Given the description of an element on the screen output the (x, y) to click on. 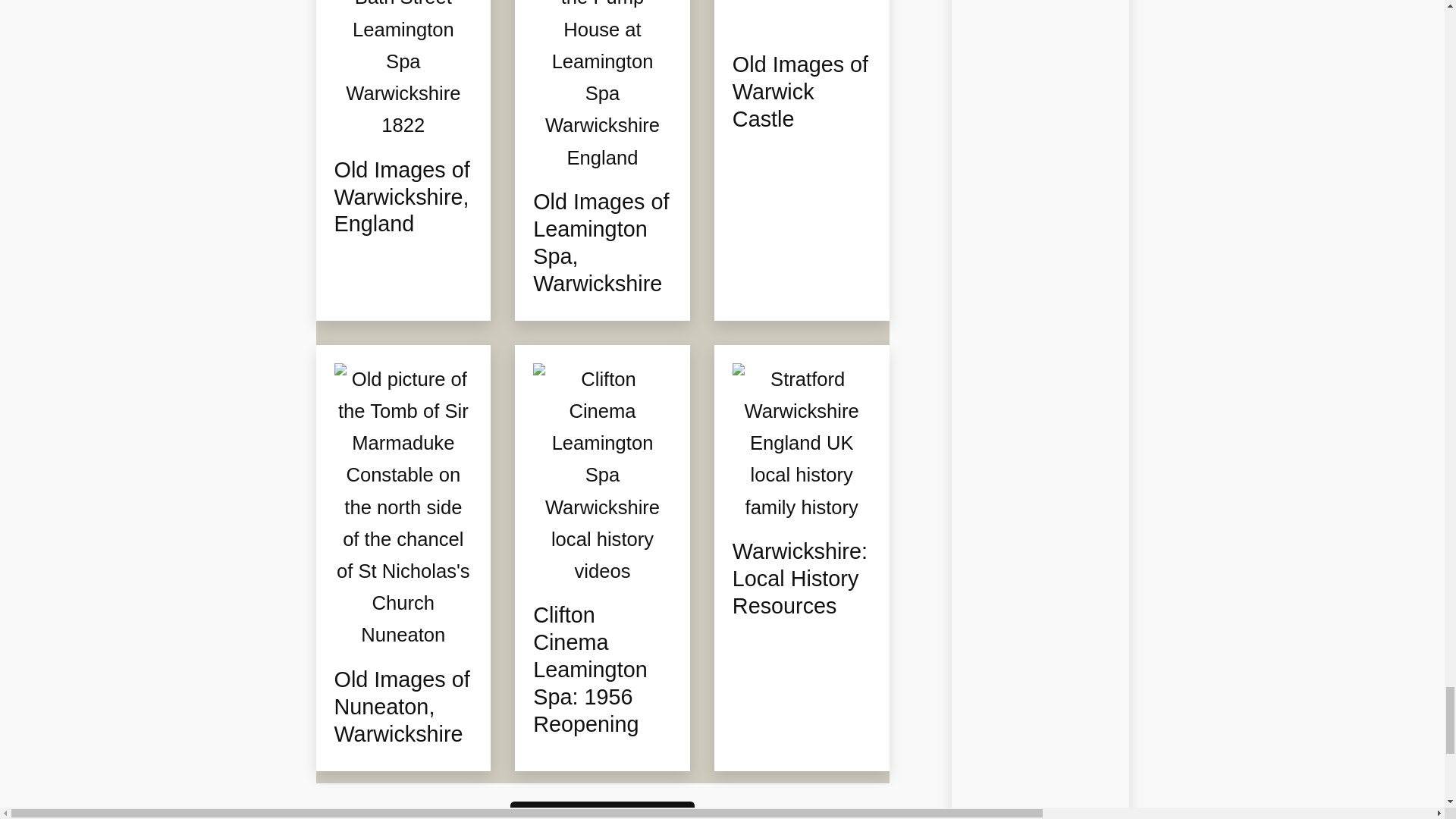
Old Images of Nuneaton, Warwickshire (402, 707)
Clifton Cinema Leamington Spa: 1956 Reopening (601, 669)
Warwickshire: Local History Resources (801, 578)
Old Images of Leamington Spa, Warwickshire (601, 243)
Old Images of Warwick Castle (801, 92)
Old Images of Warwickshire, England (402, 198)
More old images of Warwickshire (602, 810)
